Given the description of an element on the screen output the (x, y) to click on. 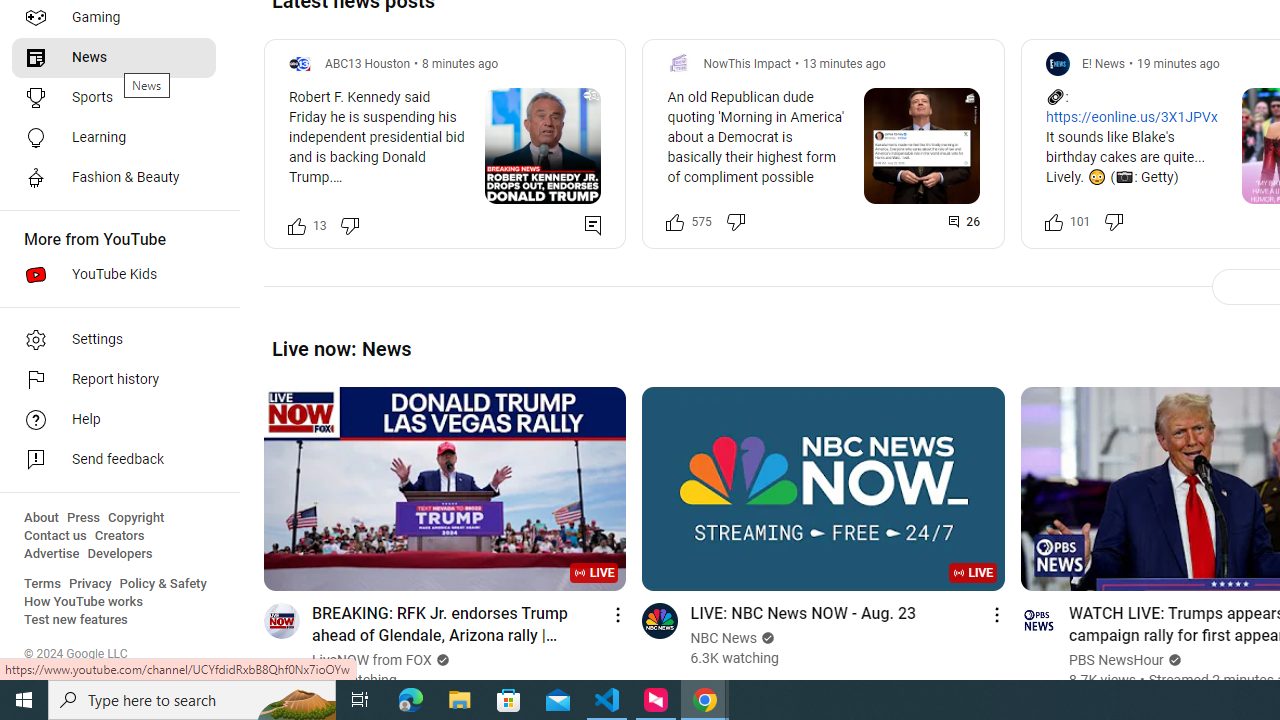
News (113, 57)
Press (83, 518)
Comment (965, 221)
Developers (120, 554)
ABC13 Houston (367, 63)
Contact us (55, 536)
Fashion & Beauty (113, 177)
Advertise (51, 554)
YouTube Kids (113, 274)
How YouTube works (83, 602)
8 minutes ago (459, 63)
13 minutes ago (843, 63)
Creators (118, 536)
